Given the description of an element on the screen output the (x, y) to click on. 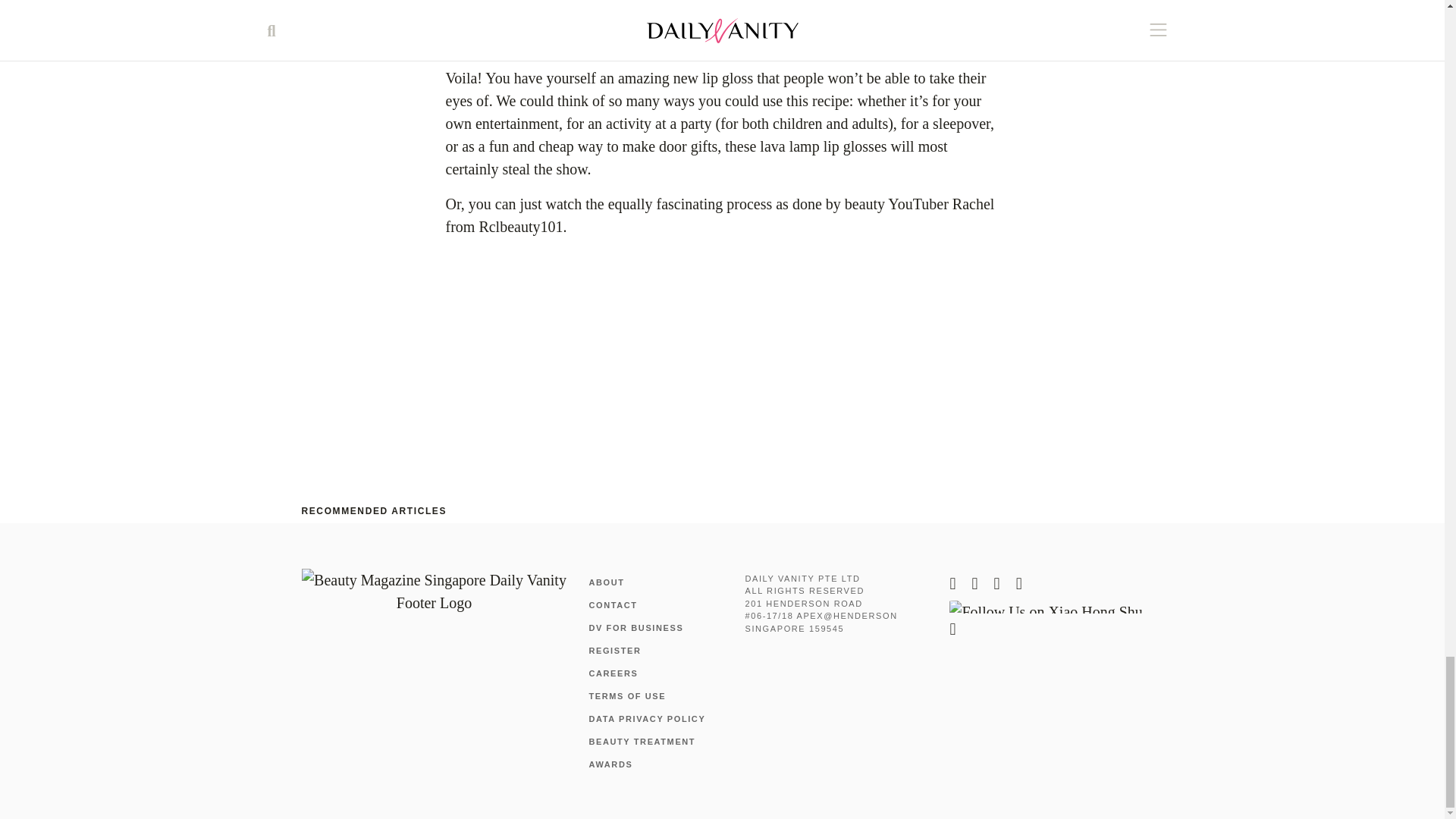
ABOUT (606, 582)
DIY Lava Lamp Lip Gloss! (635, 356)
BEAUTY TREATMENT AWARDS (641, 753)
REGISTER (614, 650)
CAREERS (612, 673)
CONTACT (612, 604)
Follow Us on Xiao Hong Shu (1045, 606)
DATA PRIVACY POLICY (646, 718)
TERMS OF USE (626, 696)
DV FOR BUSINESS (635, 627)
